Given the description of an element on the screen output the (x, y) to click on. 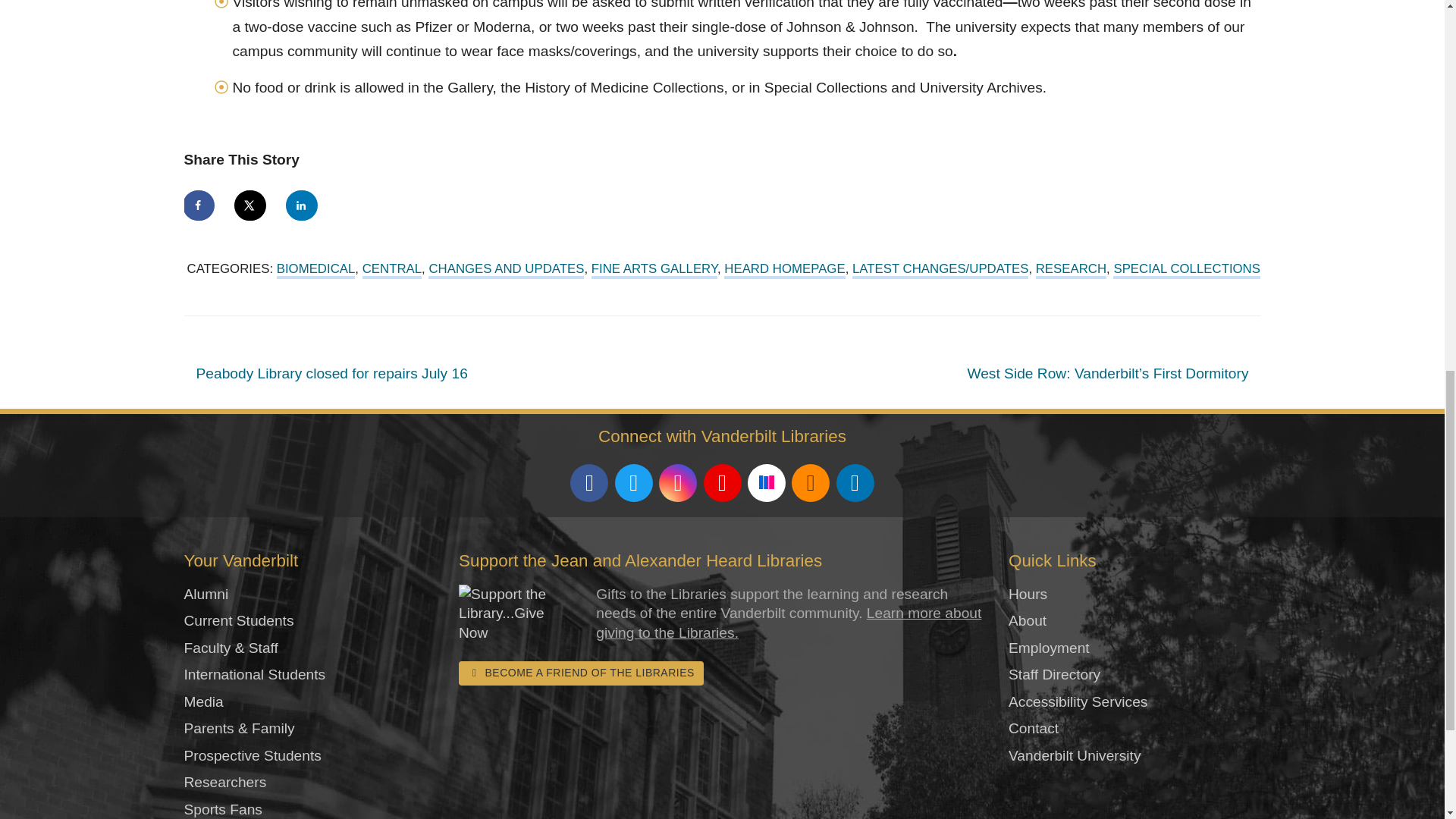
Share on LinkedIn (301, 205)
Share on Facebook (198, 205)
Share on X (250, 205)
